Given the description of an element on the screen output the (x, y) to click on. 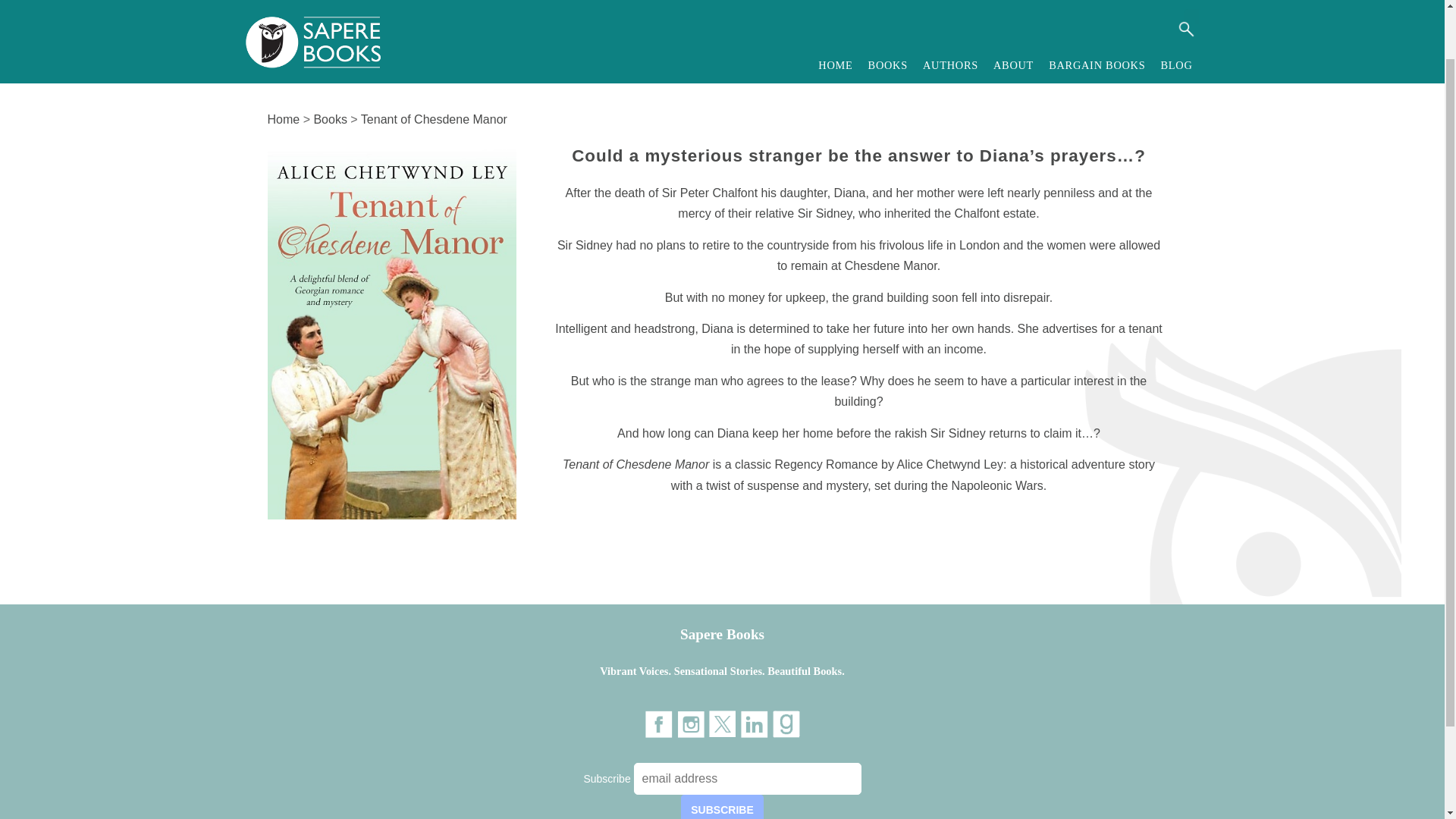
BARGAIN BOOKS (1097, 12)
AUTHORS (950, 12)
Tenant of Chesdene Manor (433, 119)
ABOUT (1013, 12)
BLOG (1176, 12)
Books (329, 119)
Home (282, 119)
HOME (835, 12)
BOOKS (887, 12)
